Given the description of an element on the screen output the (x, y) to click on. 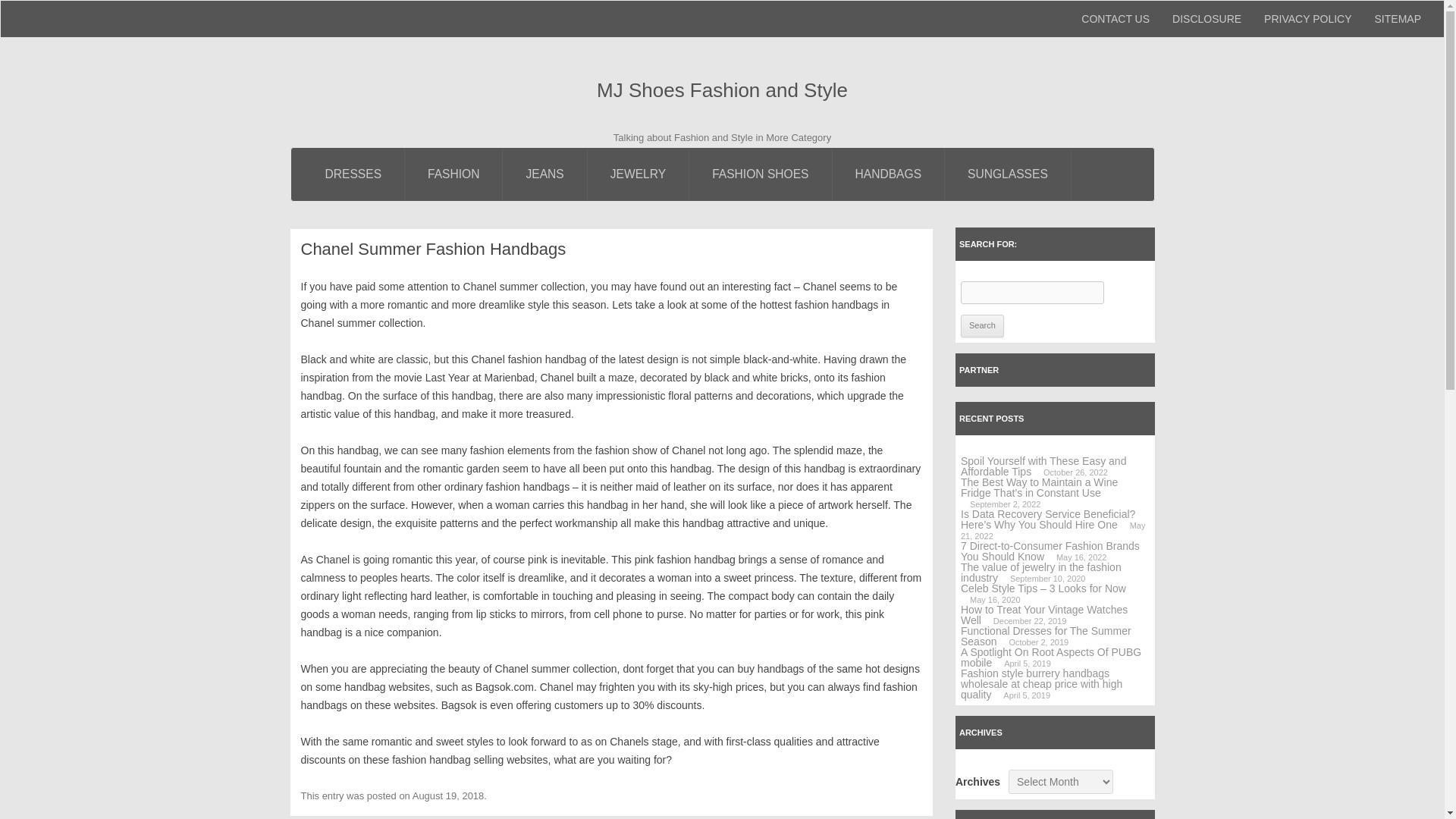
A Spotlight On Root Aspects Of PUBG mobile (1050, 657)
Search (982, 325)
CONTACT US (1115, 18)
SUNGLASSES (1007, 174)
JEANS (544, 174)
MJ Shoes Fashion and Style (721, 90)
7 Direct-to-Consumer Fashion Brands You Should Know (1050, 550)
Privacy Policy (1307, 18)
Functional Dresses for The Summer Season (1045, 635)
SITEMAP (1397, 18)
Fashion (453, 174)
Fashion Shoes (759, 174)
DISCLOSURE (1206, 18)
DISCLOSURE (1206, 18)
Jeans (544, 174)
